Given the description of an element on the screen output the (x, y) to click on. 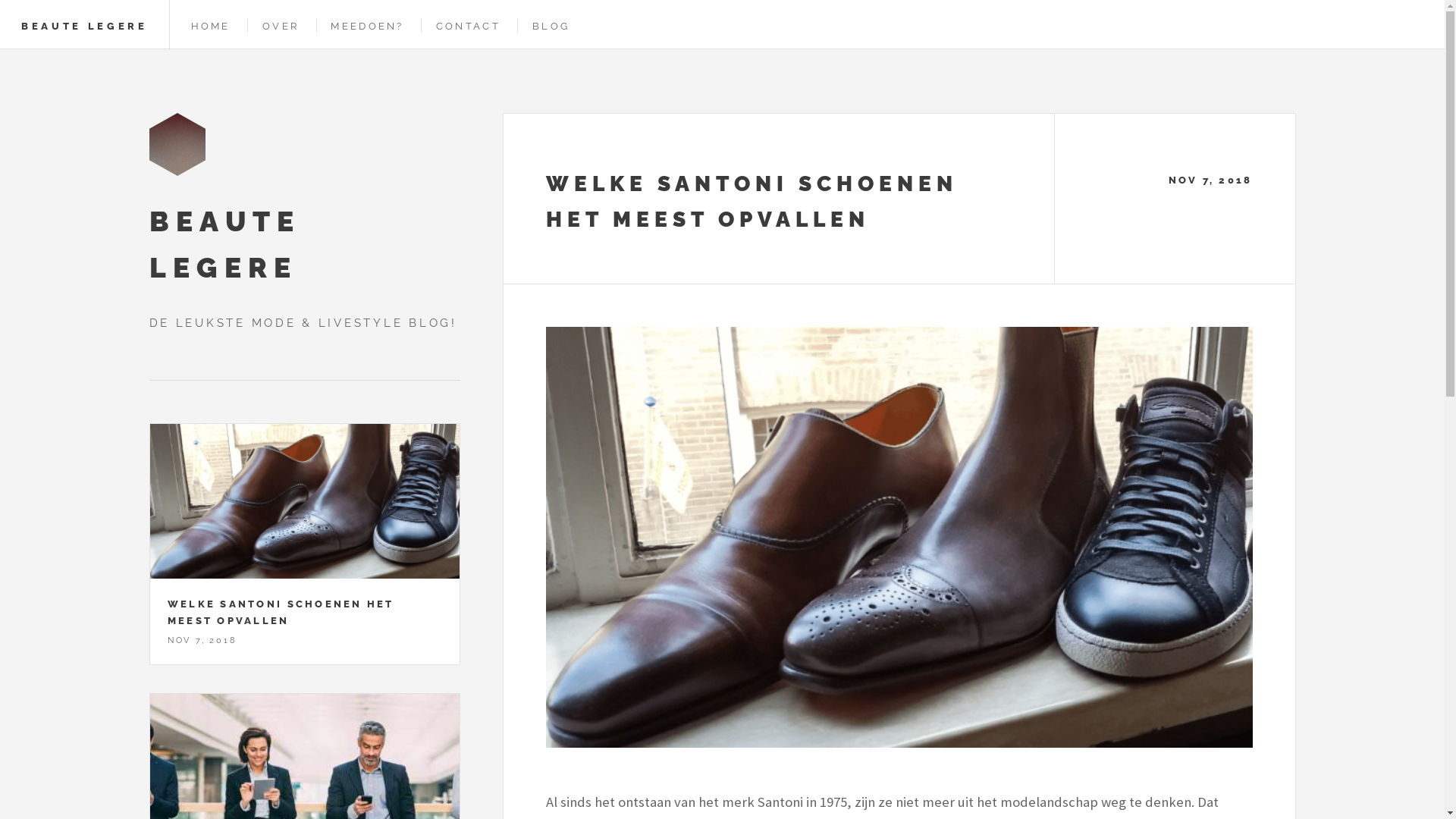
WELKE SANTONI SCHOENEN HET MEEST OPVALLEN Element type: text (280, 612)
MEEDOEN? Element type: text (366, 25)
WELKE SANTONI SCHOENEN HET MEEST OPVALLEN Element type: text (751, 201)
OVER Element type: text (280, 25)
BEAUTE LEGERE Element type: text (84, 25)
BLOG Element type: text (550, 25)
CONTACT Element type: text (468, 25)
HOME Element type: text (210, 25)
Welke Santoni schoenen het meest opvallen Element type: hover (899, 536)
